Given the description of an element on the screen output the (x, y) to click on. 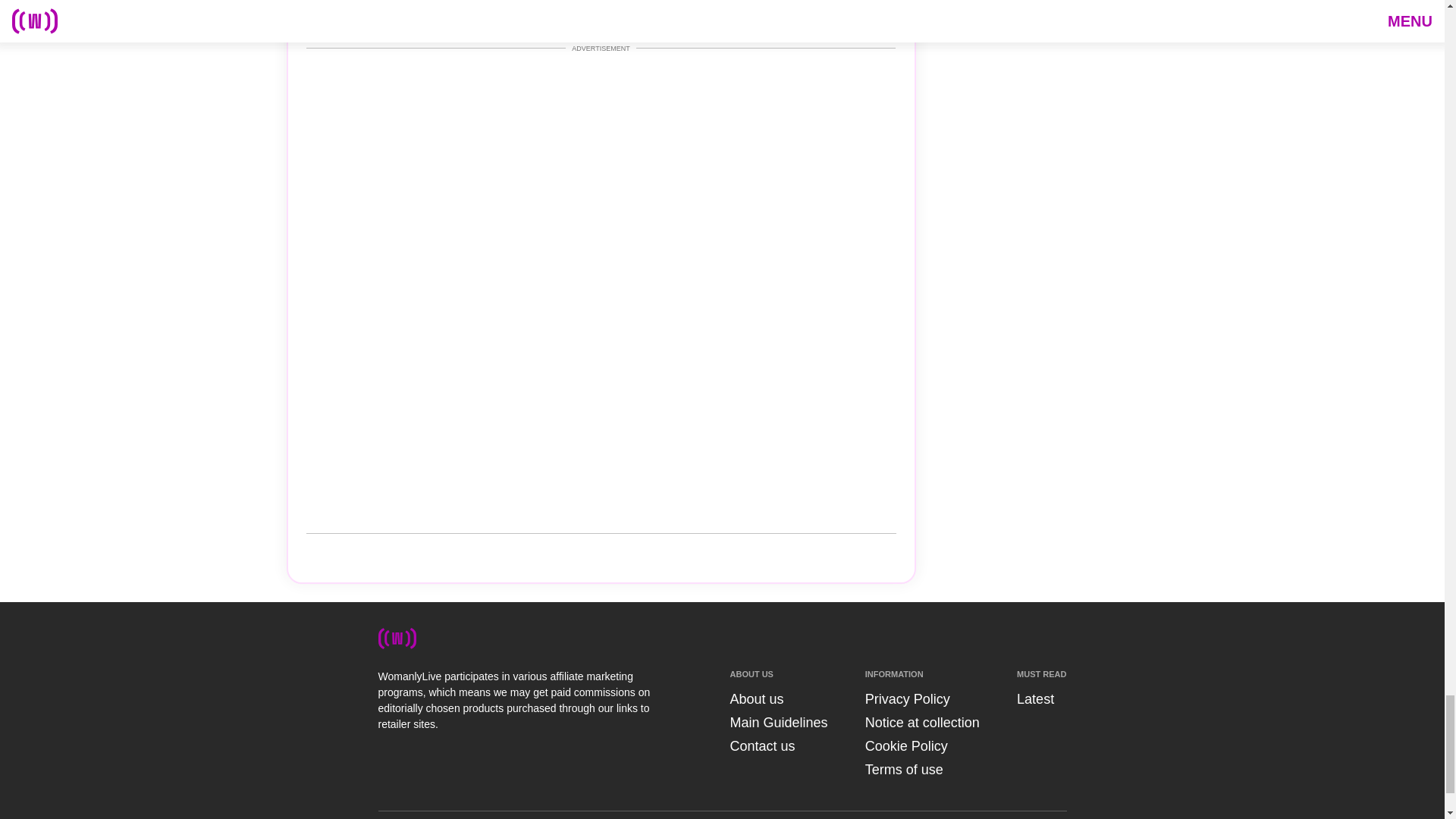
About us (756, 698)
Contact us (761, 745)
Main Guidelines (778, 722)
Notice at collection (921, 722)
Privacy Policy (907, 698)
